Given the description of an element on the screen output the (x, y) to click on. 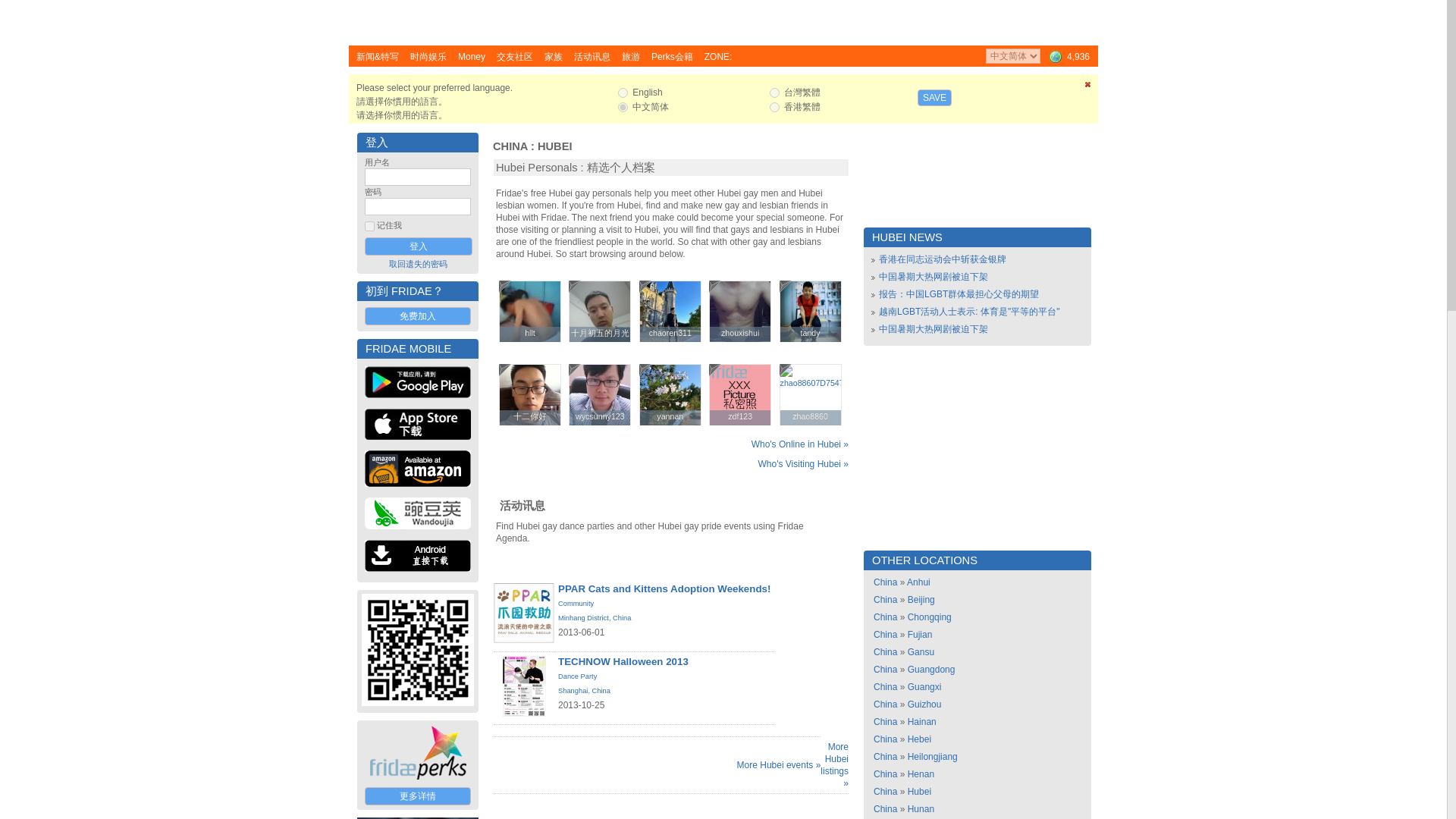
4,936 (1068, 56)
Worldwide (1068, 56)
Offline (644, 286)
Offline (505, 369)
tc (774, 92)
1 (369, 225)
sc (622, 107)
Facebook (1071, 13)
en (622, 92)
Offline (785, 286)
Offline (505, 286)
Offline (574, 286)
hk (774, 107)
Money (471, 55)
Close this panel (1087, 86)
